Given the description of an element on the screen output the (x, y) to click on. 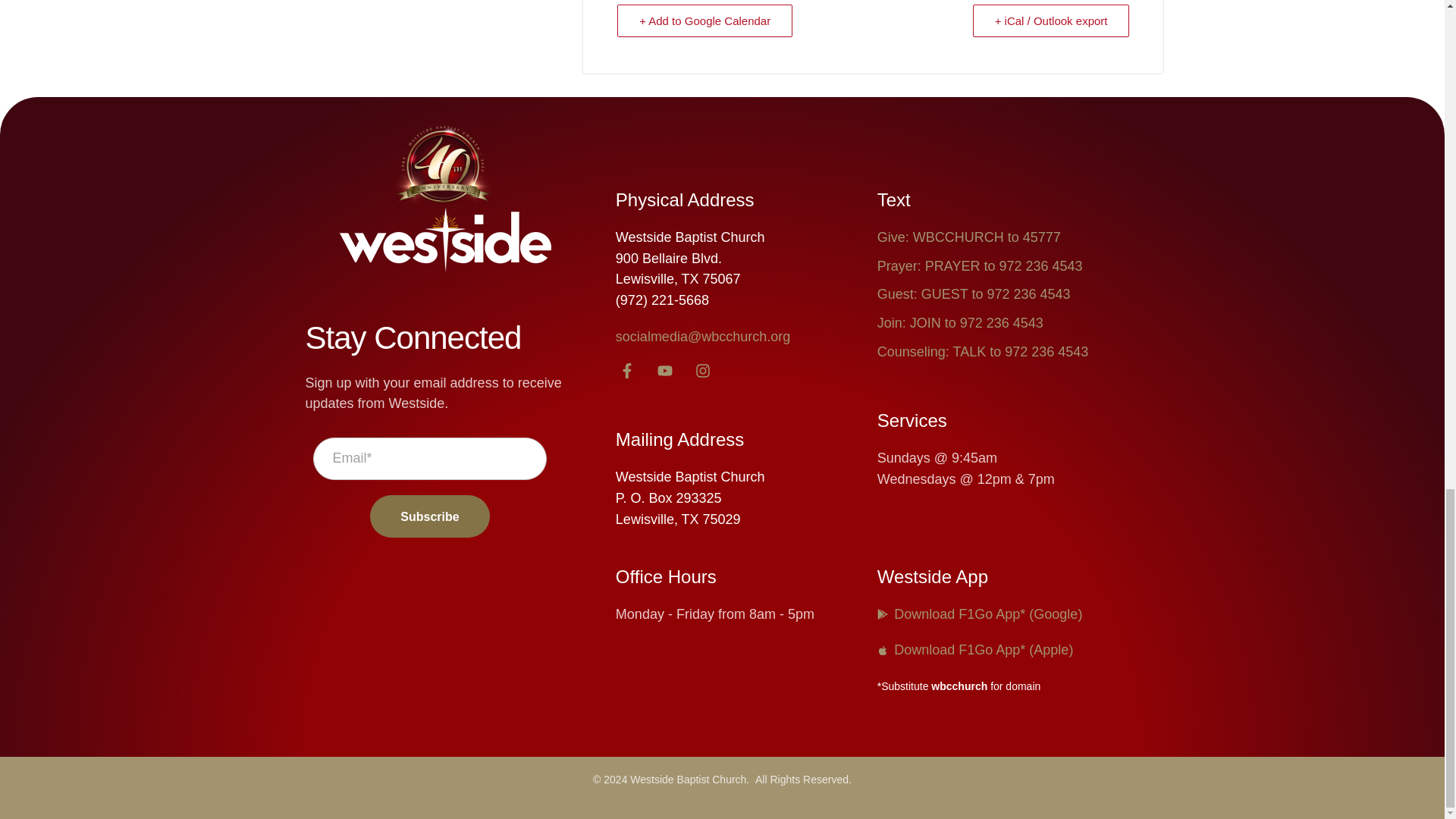
Westside Baptist Church (445, 240)
